Given the description of an element on the screen output the (x, y) to click on. 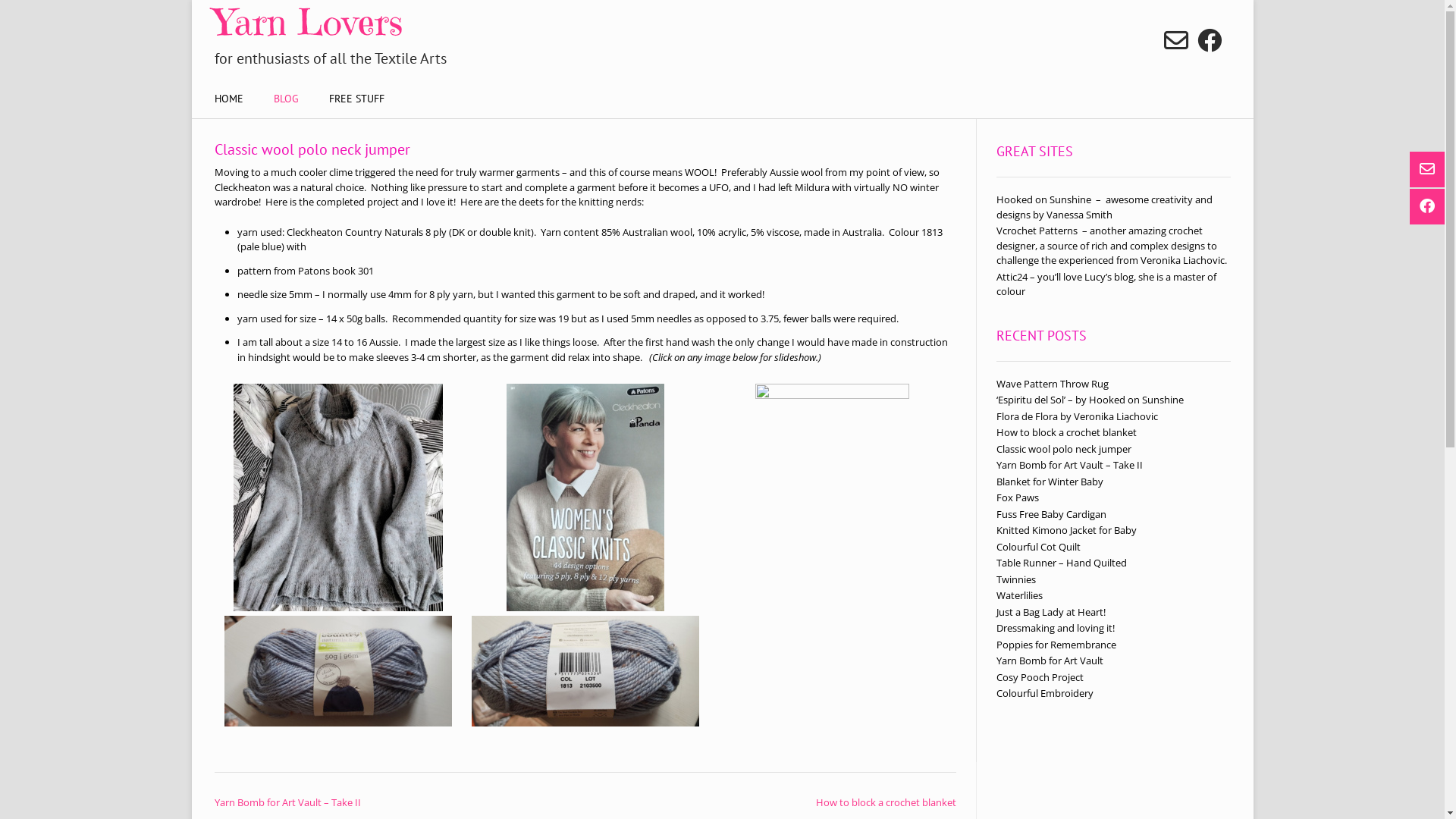
HOME Element type: text (227, 99)
Waterlilies Element type: text (1019, 595)
Yarn Lovers Element type: text (467, 21)
Blanket for Winter Baby Element type: text (1049, 481)
Wave Pattern Throw Rug Element type: text (1052, 382)
Vcrochet Patterns Element type: text (1036, 230)
Cosy Pooch Project Element type: text (1039, 677)
Hooked on Sunshine Element type: text (1043, 199)
Classic wool polo neck jumper Element type: text (1063, 448)
Just a Bag Lady at Heart! Element type: text (1050, 611)
How to block a crochet blanket Element type: text (1066, 432)
Fuss Free Baby Cardigan Element type: text (1051, 513)
Fox Paws Element type: text (1017, 497)
Send Us an Email Element type: hover (1428, 169)
Find Us on Facebook Element type: hover (1208, 39)
Colourful Embroidery Element type: text (1044, 692)
FREE STUFF Element type: text (356, 99)
Find Us on Facebook Element type: hover (1428, 206)
BLOG Element type: text (285, 99)
Attic24 Element type: text (1011, 276)
Colourful Cot Quilt Element type: text (1038, 546)
Twinnies Element type: text (1015, 578)
Dressmaking and loving it! Element type: text (1055, 627)
Knitted Kimono Jacket for Baby Element type: text (1066, 529)
Poppies for Remembrance Element type: text (1056, 643)
Send Us an Email Element type: hover (1175, 39)
Flora de Flora by Veronika Liachovic Element type: text (1076, 416)
Yarn Bomb for Art Vault Element type: text (1049, 660)
How to block a crochet blanket Element type: text (885, 801)
